Given the description of an element on the screen output the (x, y) to click on. 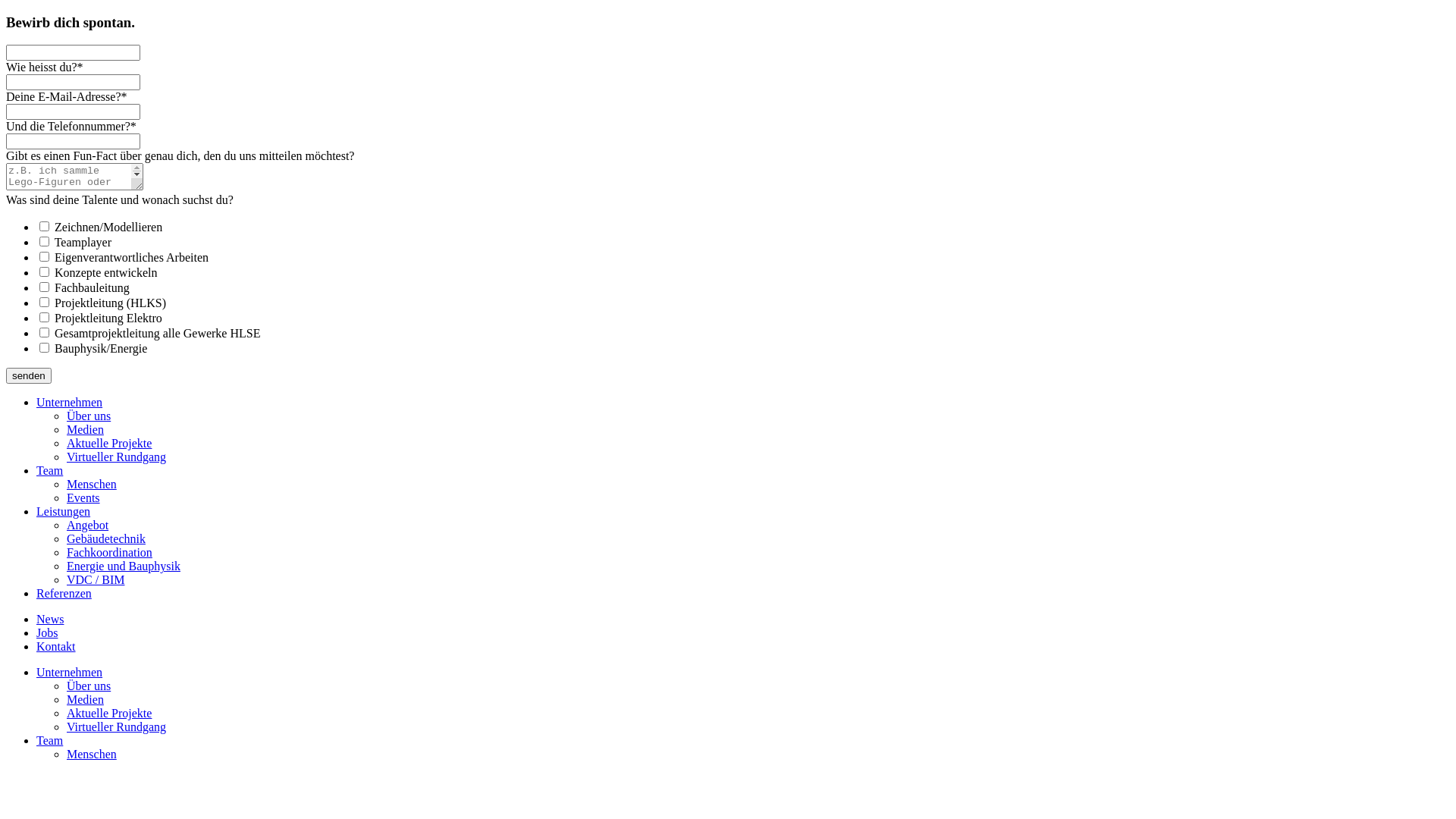
Fachkoordination Element type: text (109, 552)
Menschen Element type: text (91, 483)
Unternehmen Element type: text (69, 401)
Medien Element type: text (84, 699)
VDC / BIM Element type: text (95, 579)
Team
Menschen Element type: text (742, 747)
Aktuelle Projekte Element type: text (108, 712)
Kontakt Element type: text (55, 646)
Unternehmen Element type: text (69, 671)
Virtueller Rundgang Element type: text (116, 456)
Virtueller Rundgang Element type: text (116, 726)
Menschen Element type: text (91, 753)
Medien Element type: text (757, 699)
Leistungen Element type: text (63, 511)
Medien Element type: text (84, 429)
Menschen Element type: text (757, 754)
Team Element type: text (49, 470)
Energie und Bauphysik Element type: text (123, 565)
Angebot Element type: text (87, 524)
Aktuelle Projekte Element type: text (757, 713)
Aktuelle Projekte Element type: text (108, 442)
senden Element type: text (28, 375)
Events Element type: text (83, 497)
Referenzen Element type: text (63, 592)
Jobs Element type: text (46, 632)
Team Element type: text (49, 740)
News Element type: text (49, 618)
Virtueller Rundgang Element type: text (757, 727)
